Given the description of an element on the screen output the (x, y) to click on. 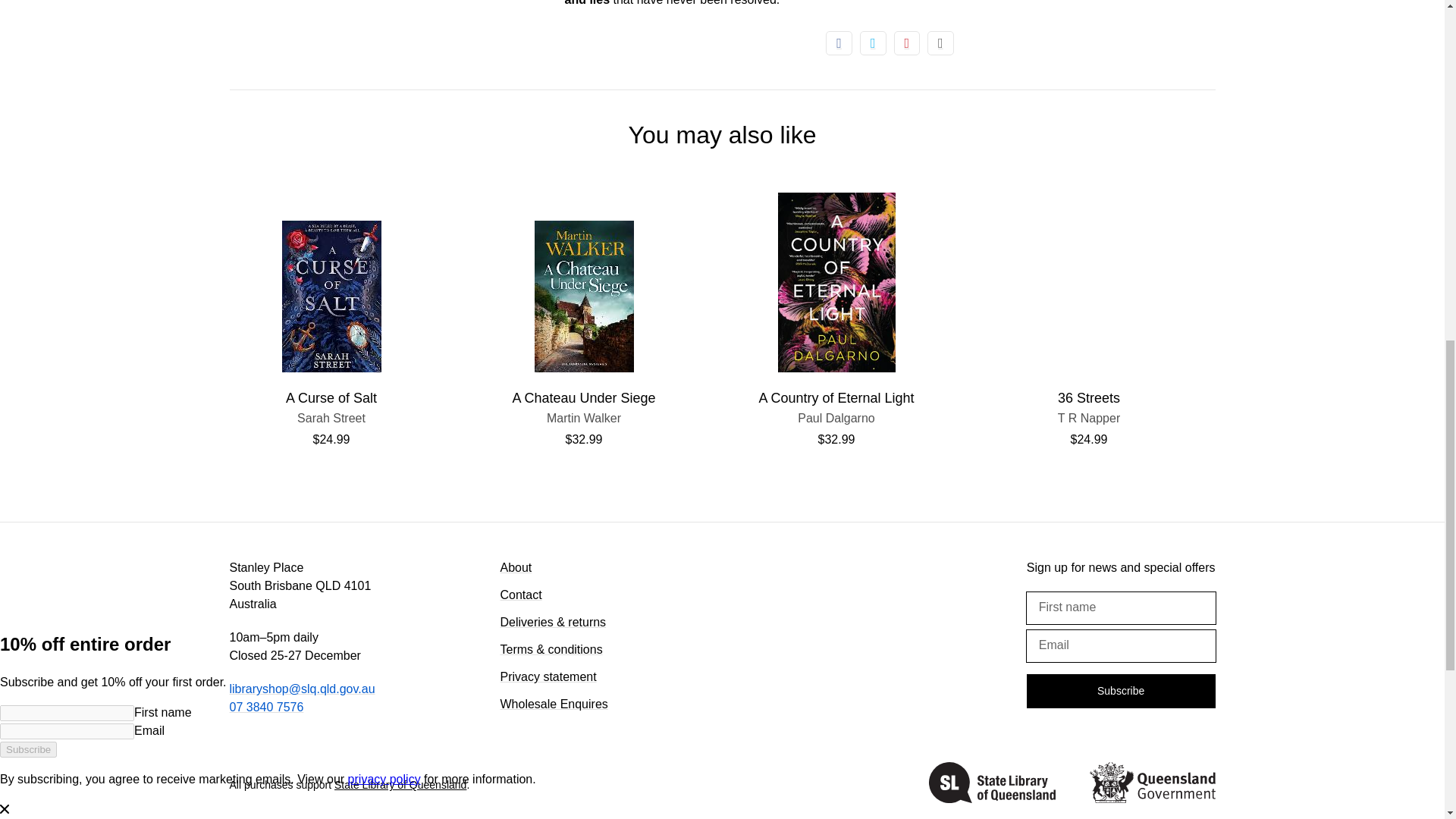
Go to Queensland Government homepage (1151, 785)
Go to Queensland State Library homepage (836, 418)
tel:07 3840 7576 (992, 785)
